Given the description of an element on the screen output the (x, y) to click on. 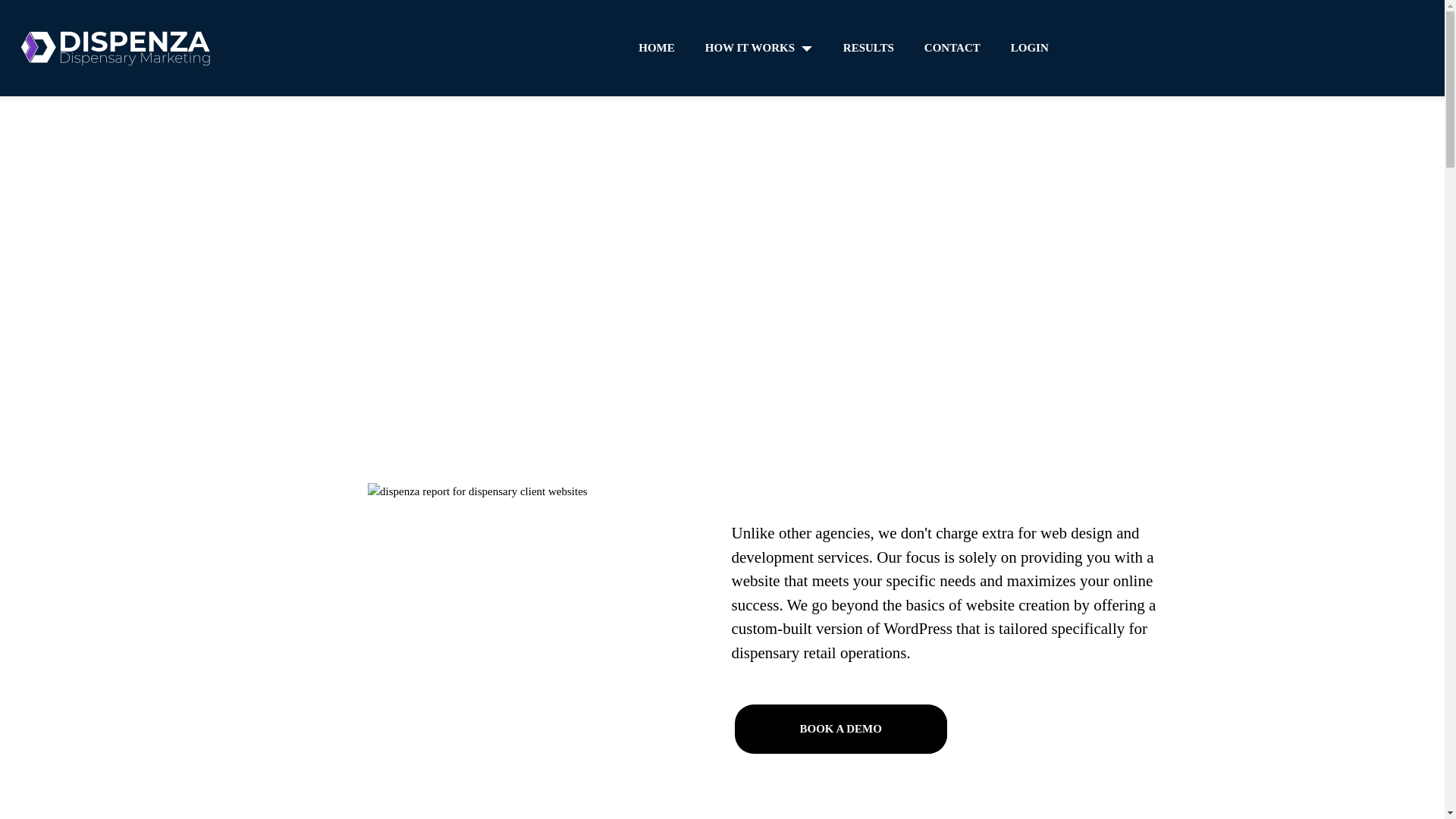
HOME (656, 48)
CONTACT (951, 48)
RESULTS (868, 48)
HOW IT WORKS (759, 48)
